Given the description of an element on the screen output the (x, y) to click on. 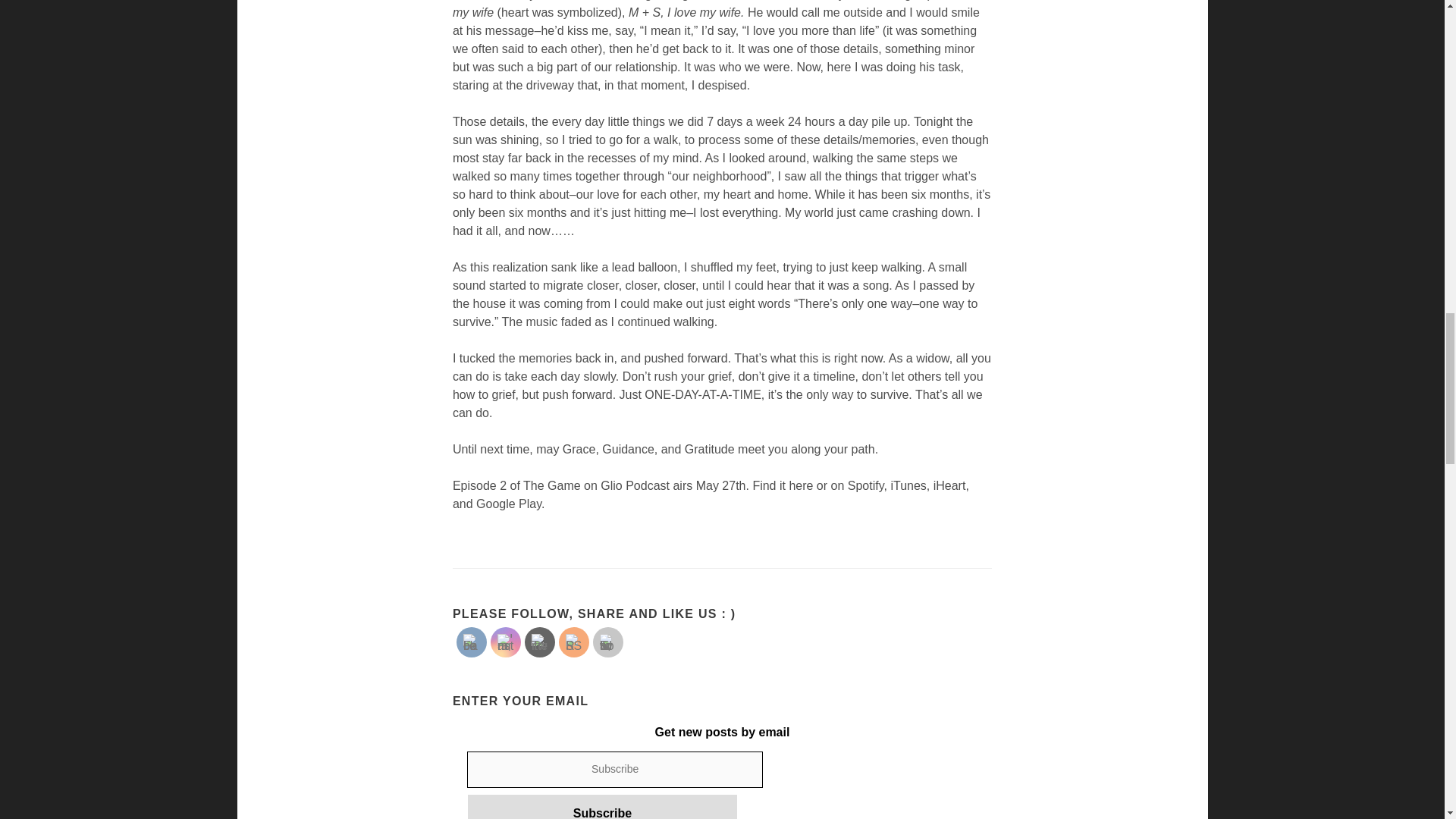
Twitter (539, 641)
Follow by Email (607, 641)
Subscribe (601, 806)
Instagram (505, 641)
RSS (574, 641)
Facebook (471, 641)
Subscribe (601, 806)
